Given the description of an element on the screen output the (x, y) to click on. 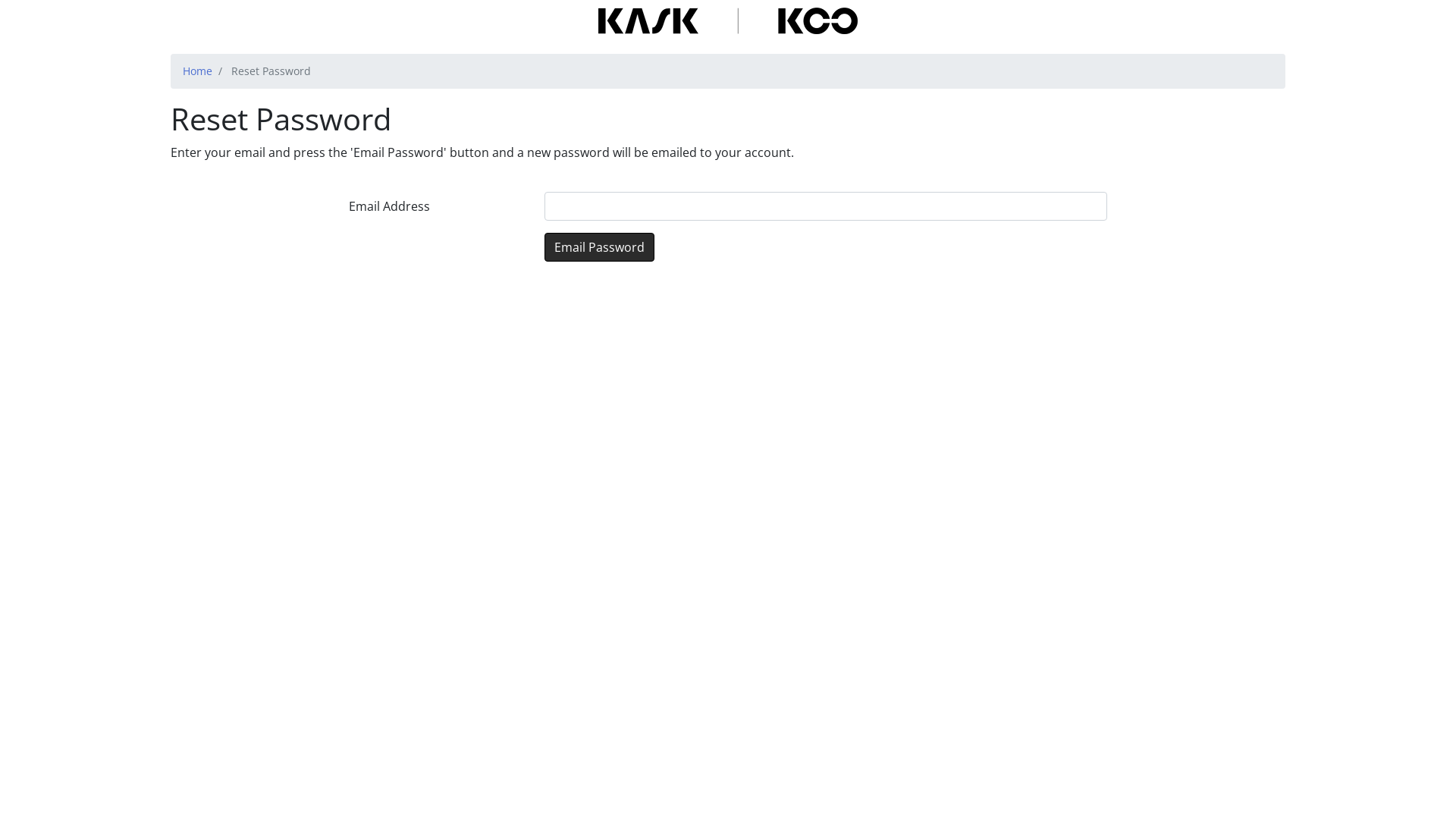
Kask Australia Equestrian Home Element type: hover (727, 20)
Email Password Element type: text (599, 246)
Home Element type: text (197, 70)
